Given the description of an element on the screen output the (x, y) to click on. 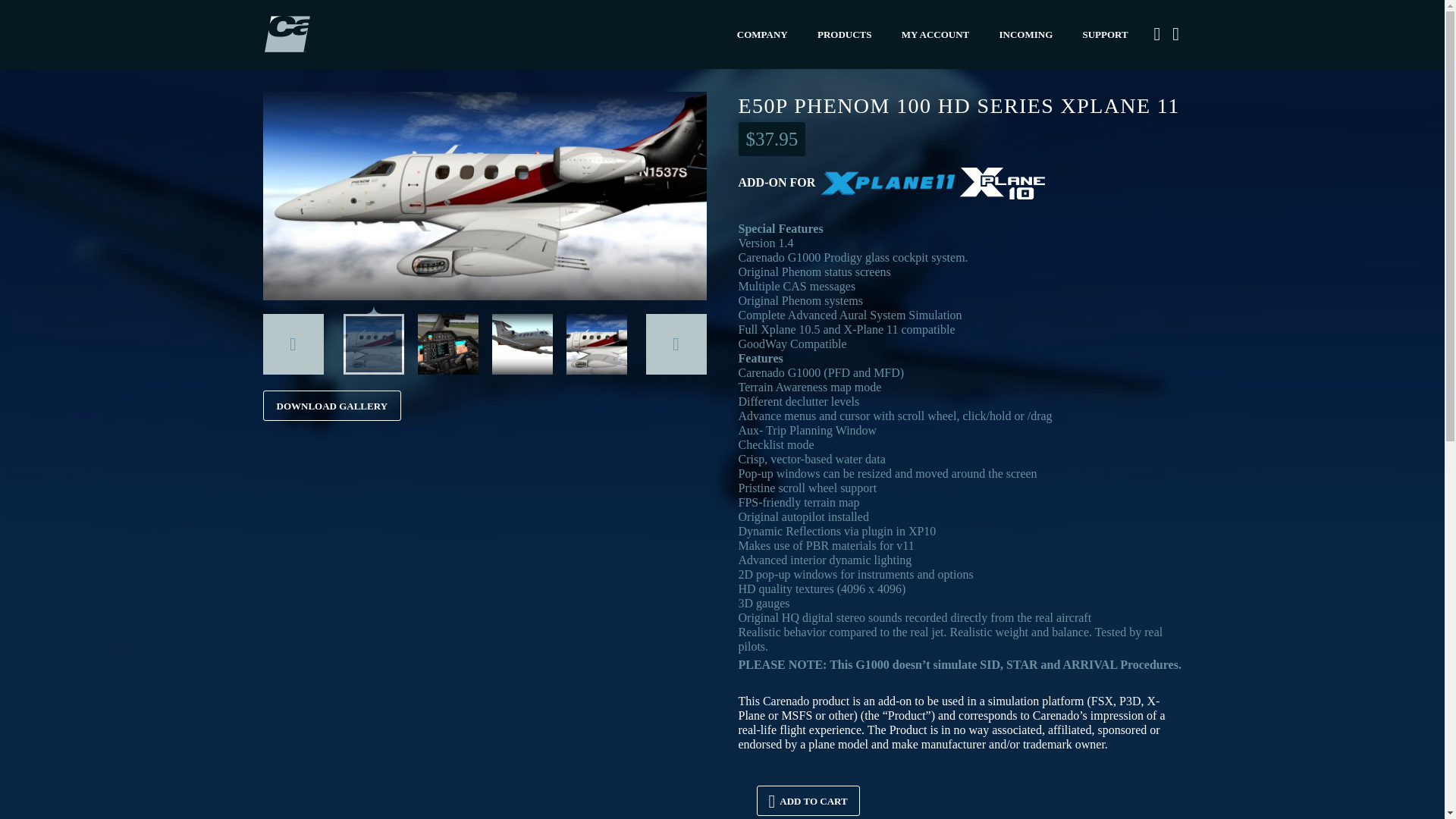
PRODUCTS (844, 34)
COMPANY (762, 34)
